Given the description of an element on the screen output the (x, y) to click on. 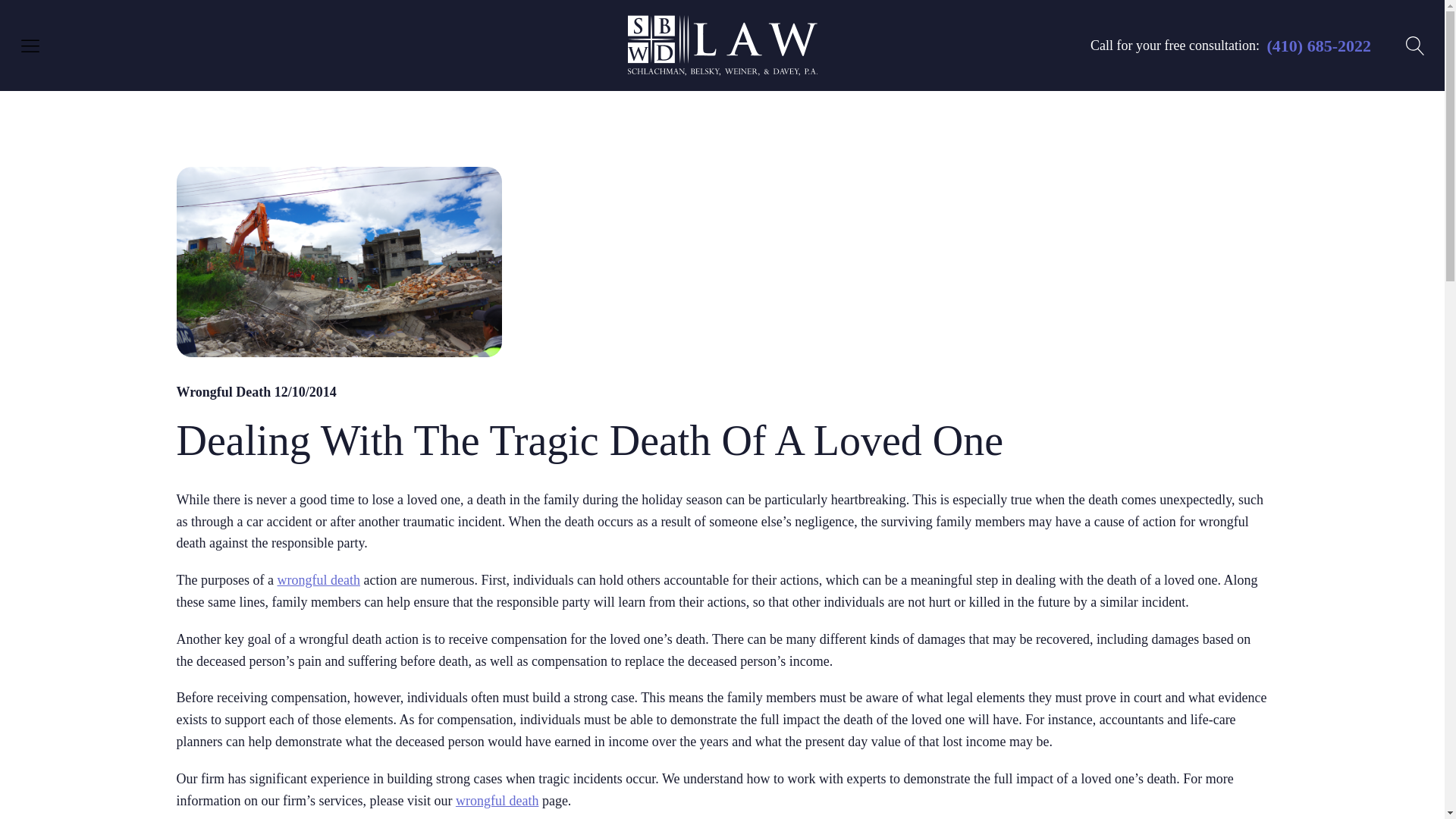
wrongful death (317, 580)
